Given the description of an element on the screen output the (x, y) to click on. 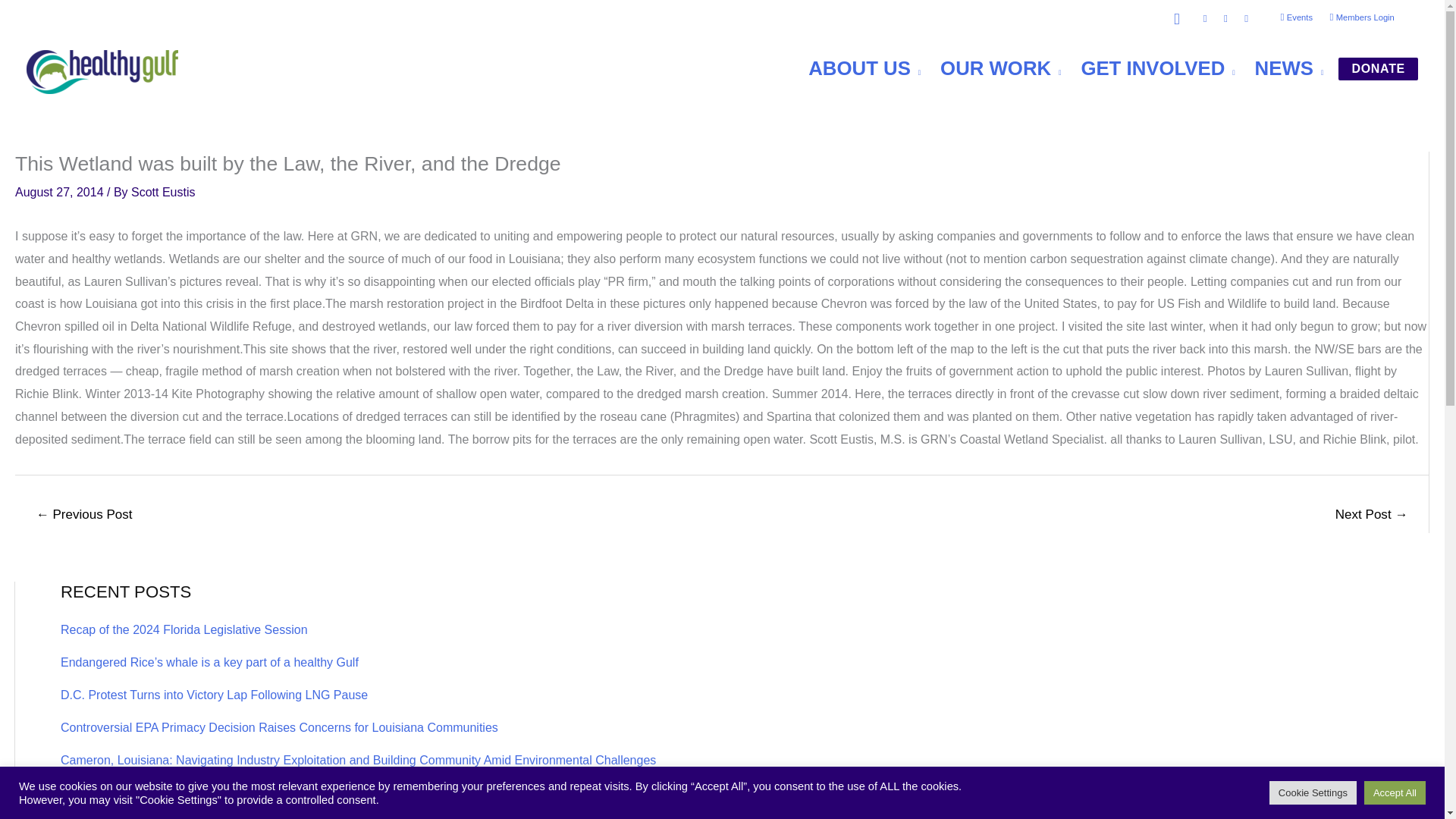
Members Login (1361, 18)
TWITTER (1246, 20)
ABOUT US (854, 68)
INSTAGAM (1225, 20)
OUR WORK (990, 68)
Events (1295, 18)
DONATE (1378, 68)
NEWS (1278, 68)
FACEBOOK (1203, 20)
GET INVOLVED (1147, 68)
View all posts by Scott Eustis (163, 192)
